Given the description of an element on the screen output the (x, y) to click on. 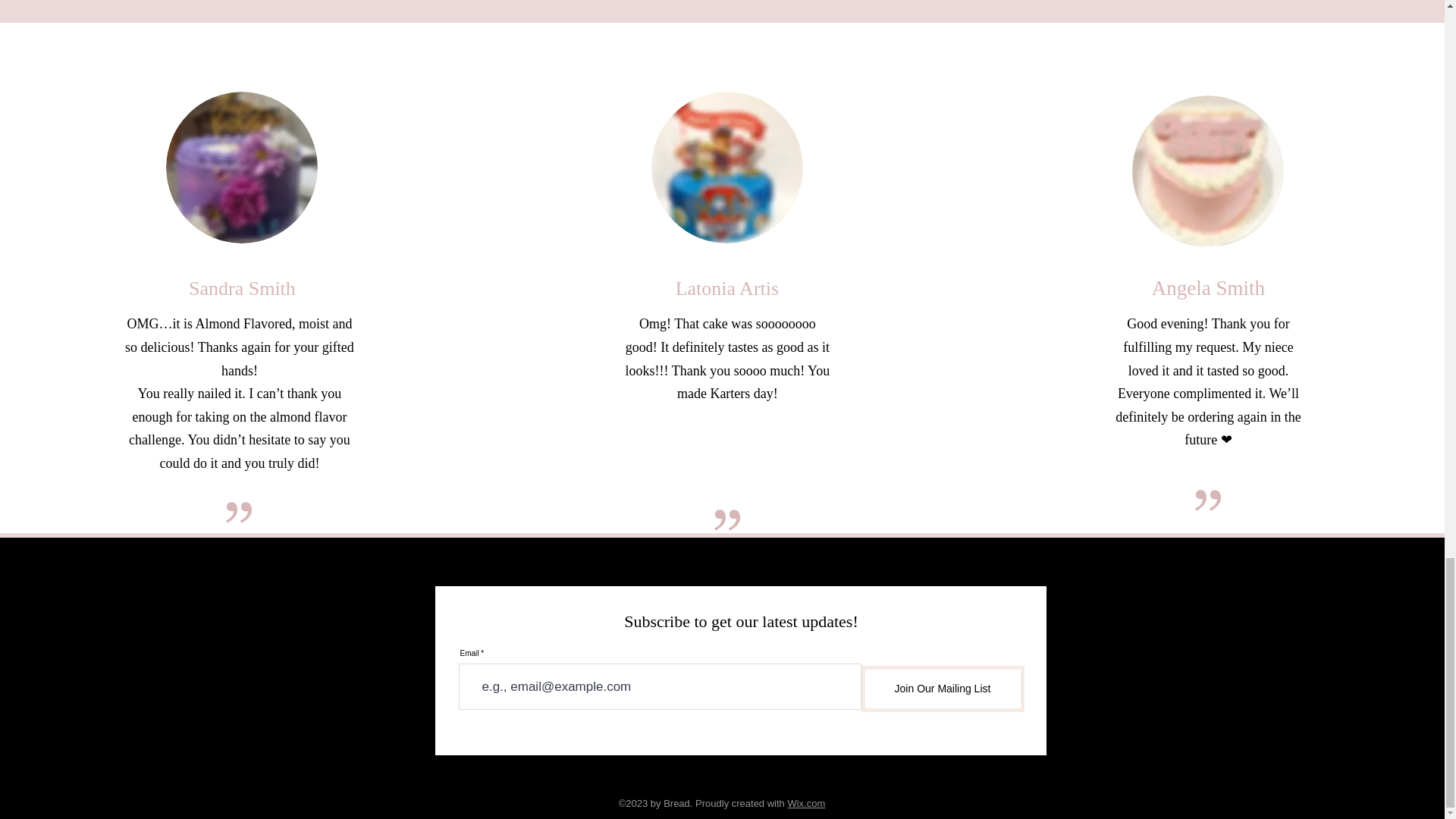
GettyImages-535587703.jpg (241, 167)
GettyImages-124893619.jpg (726, 167)
Wix.com (806, 803)
Join Our Mailing List (943, 688)
GettyImages-145680711.jpg (1208, 171)
